Given the description of an element on the screen output the (x, y) to click on. 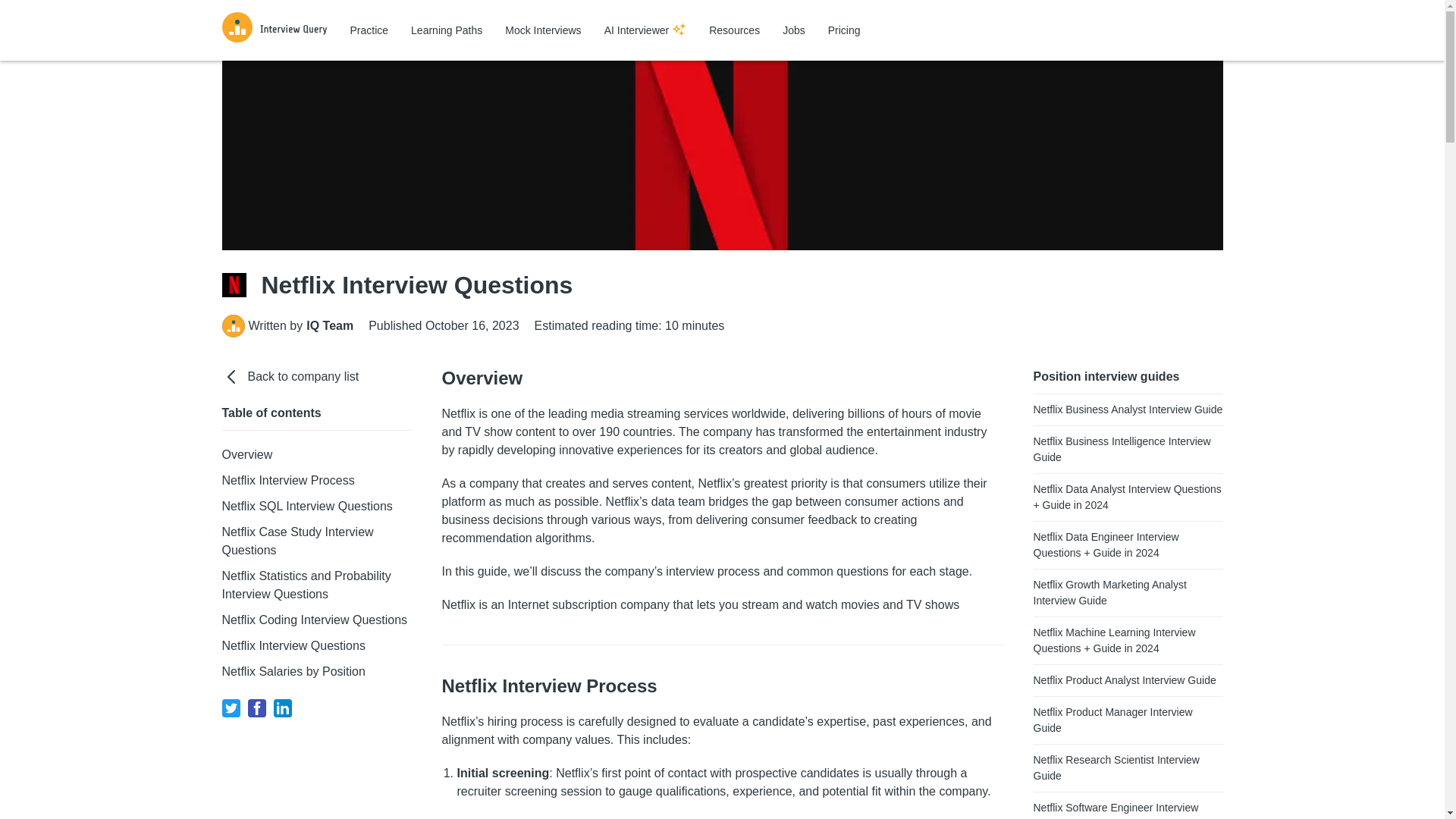
Netflix Case Study Interview Questions (296, 540)
Netflix Salaries by Position (293, 671)
Netflix Coding Interview Questions (314, 619)
Netflix SQL Interview Questions (306, 505)
Netflix Statistics and Probability Interview Questions (305, 584)
AI Interviewer (645, 29)
Share on Facebook (255, 708)
Back to company list (315, 376)
Pricing (844, 29)
Practice (369, 29)
Share on LinkedIn (282, 708)
Share on Twitter (230, 708)
Mock Interviews (542, 29)
Resources (734, 29)
Learning Paths (446, 29)
